Given the description of an element on the screen output the (x, y) to click on. 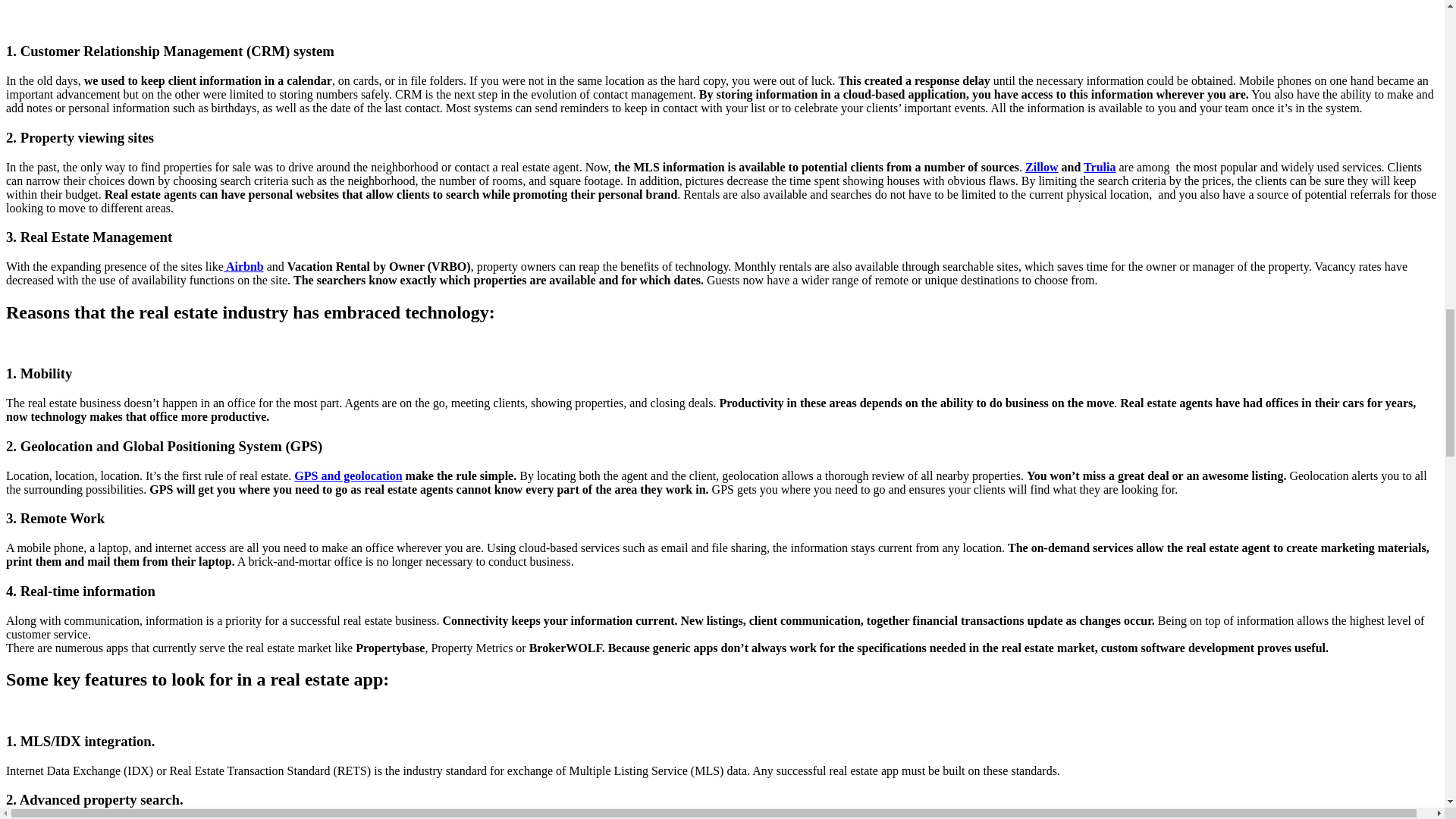
Trulia (1099, 166)
Zillow (1041, 166)
Airbnb (243, 266)
GPS and geolocation (347, 475)
